Given the description of an element on the screen output the (x, y) to click on. 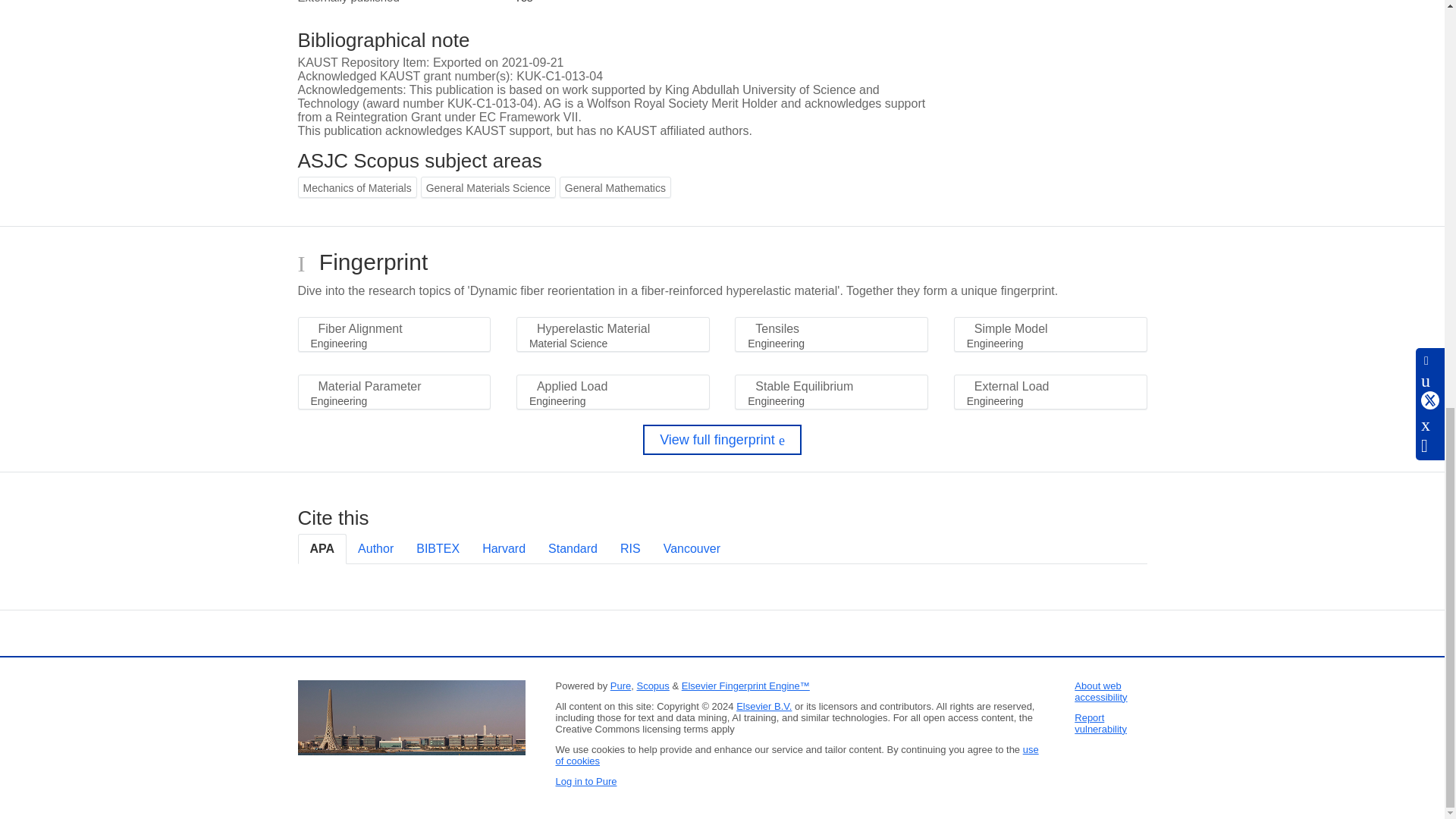
View full fingerprint (722, 440)
